Given the description of an element on the screen output the (x, y) to click on. 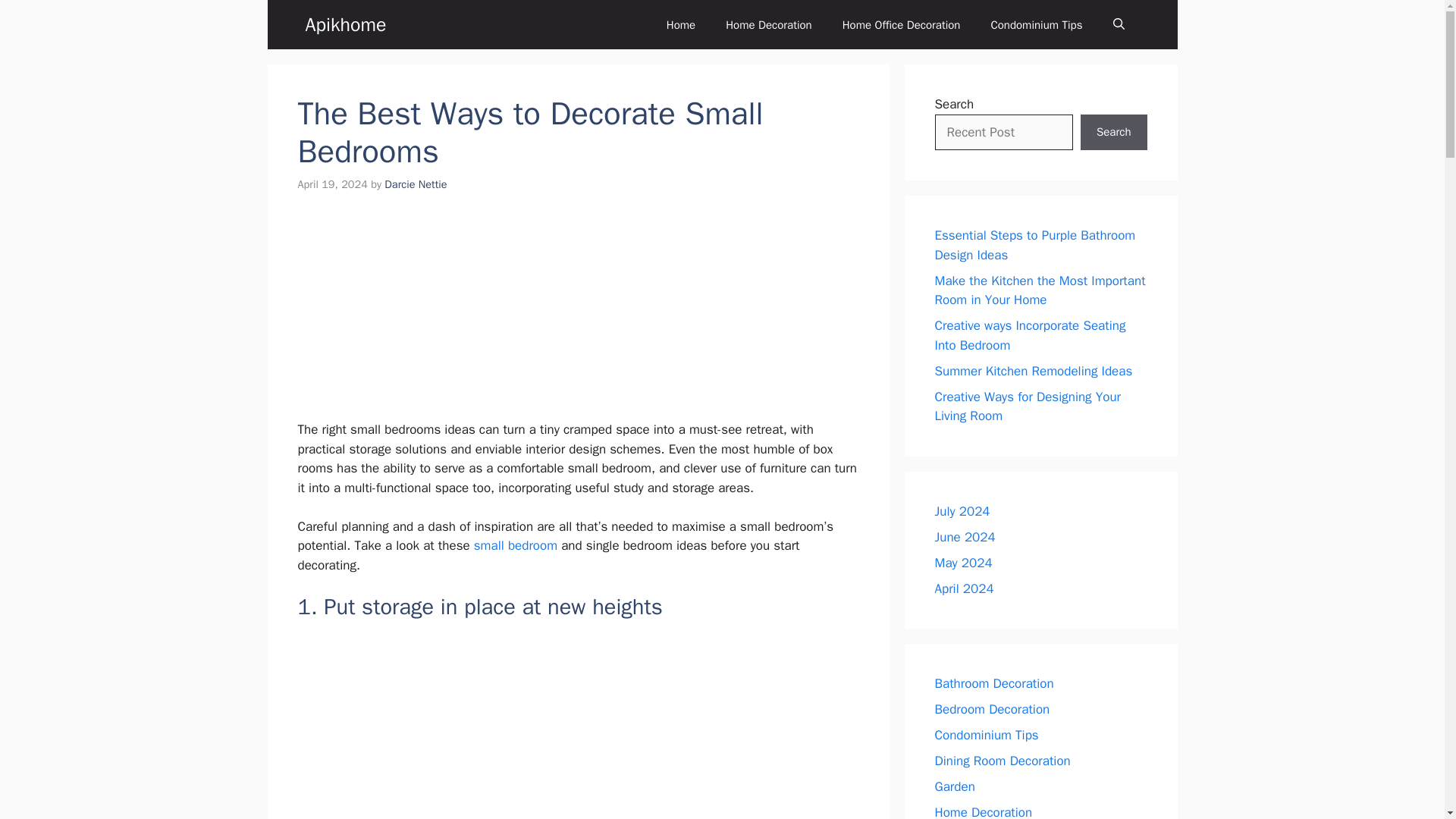
Condominium Tips (1036, 23)
The Best Ways to Decorate Small Bedrooms (578, 727)
Bedroom Decoration (991, 709)
Home (680, 23)
Home Decoration (983, 811)
Dining Room Decoration (1002, 760)
May 2024 (962, 562)
small bedroom (515, 545)
June 2024 (964, 537)
July 2024 (962, 511)
Home Decoration (768, 23)
Condominium Tips (986, 734)
Creative Ways for Designing Your Living Room (1027, 406)
View all posts by Darcie Nettie (415, 183)
Make the Kitchen the Most Important Room in Your Home (1039, 290)
